Given the description of an element on the screen output the (x, y) to click on. 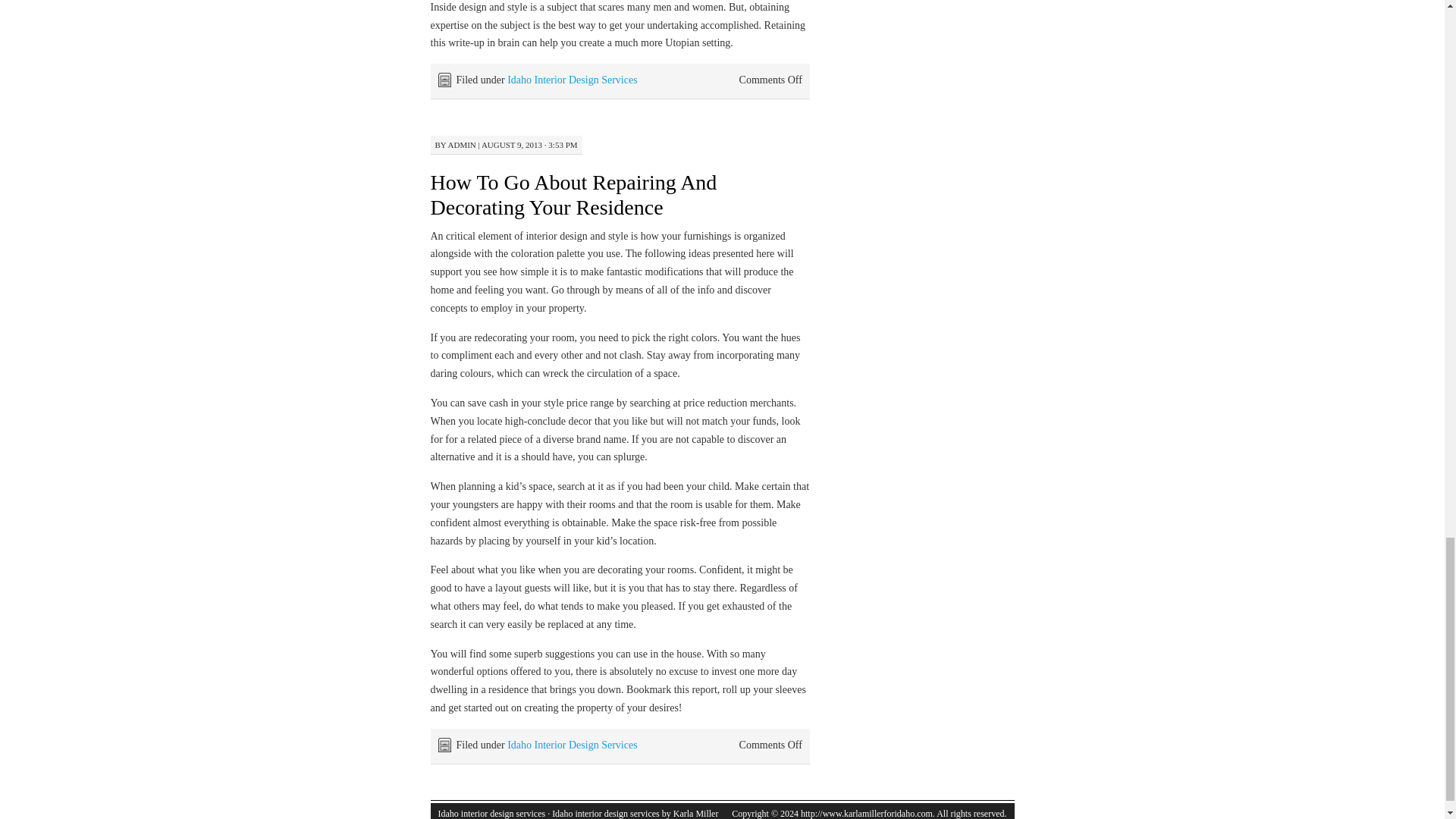
ADMIN (462, 144)
View all posts by admin (462, 144)
Idaho interior design services (492, 813)
How To Go About Repairing And Decorating Your Residence (573, 194)
Idaho Interior Design Services (571, 79)
Idaho Interior Design Services (571, 745)
